Given the description of an element on the screen output the (x, y) to click on. 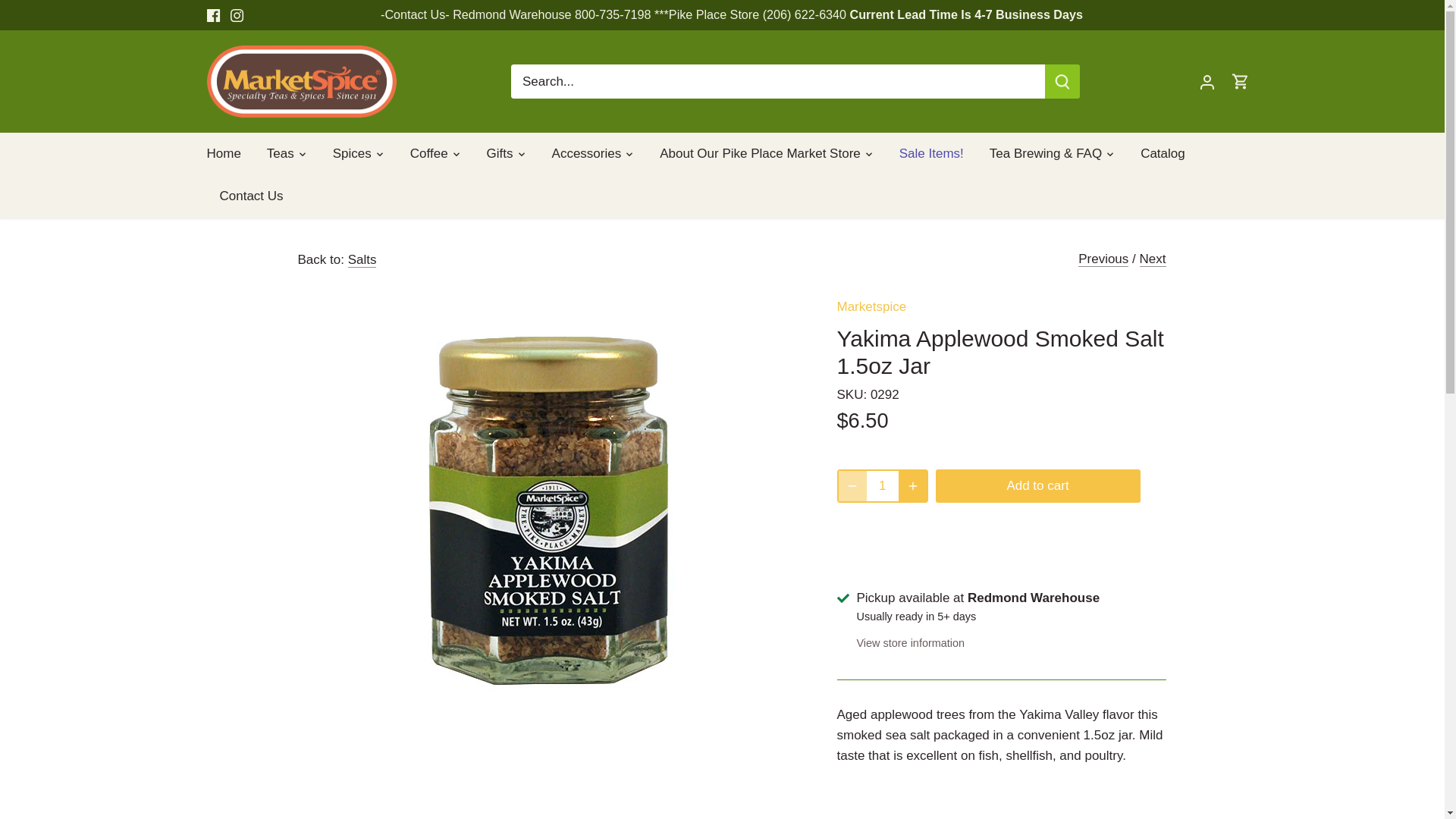
Spices (352, 153)
1 (882, 486)
Teas (280, 153)
Salts (362, 259)
Instagram (236, 15)
Facebook (212, 15)
Home (229, 153)
